Given the description of an element on the screen output the (x, y) to click on. 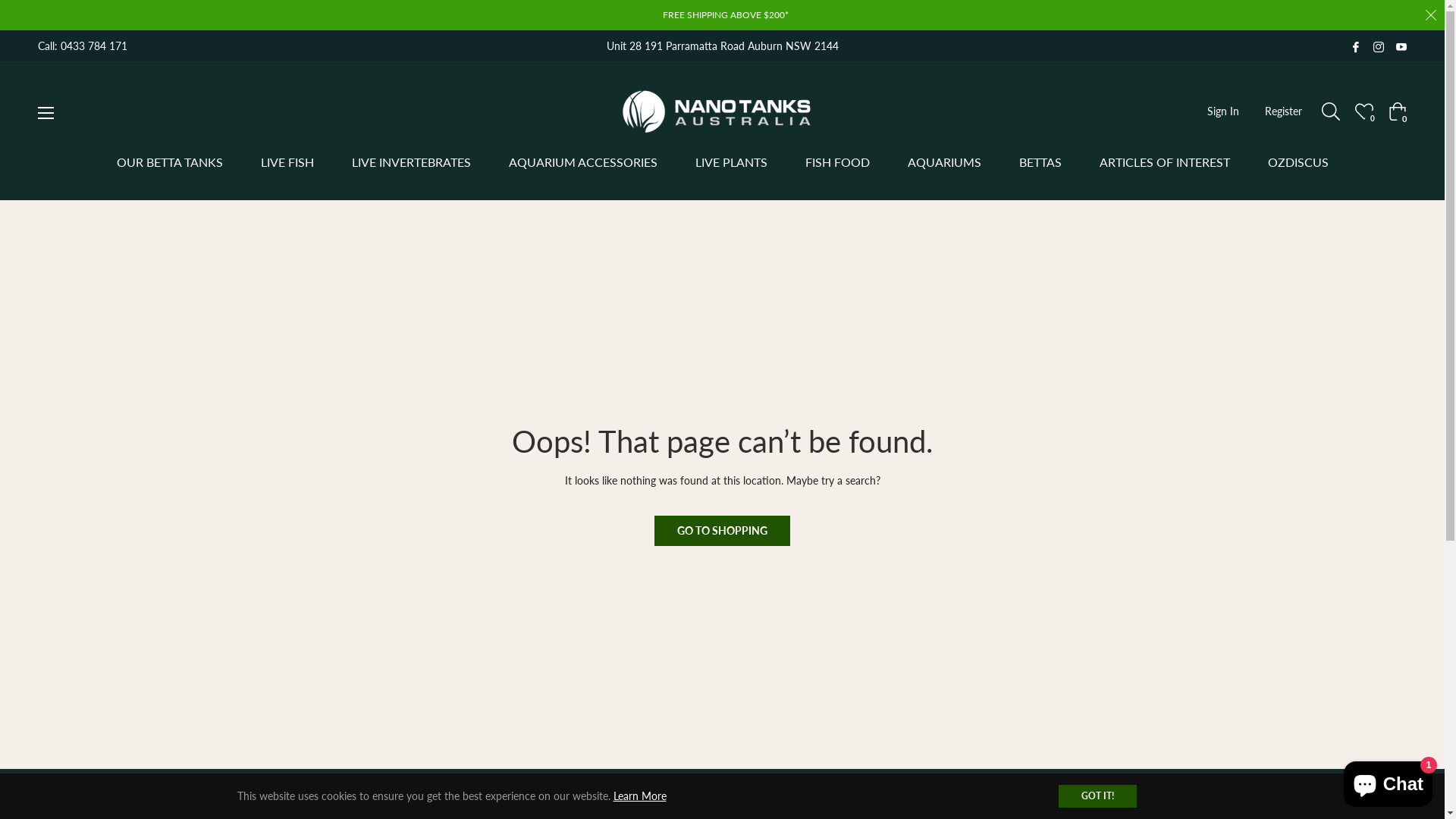
Nano Tanks Australia Aquarium Shop on Facebook Element type: hover (1355, 45)
Shopify online store chat Element type: hover (1388, 780)
ARTICLES OF INTEREST Element type: text (1163, 162)
LIVE FISH Element type: text (286, 162)
Nano Tanks Australia Aquarium Shop on YouTube Element type: hover (1401, 45)
LIVE PLANTS Element type: text (731, 162)
Register Element type: text (1283, 111)
GO TO SHOPPING Element type: text (722, 530)
OZDISCUS Element type: text (1297, 162)
AQUARIUMS Element type: text (944, 162)
0 Element type: text (1363, 111)
Learn More Element type: text (638, 795)
AQUARIUM ACCESSORIES Element type: text (582, 162)
OUR BETTA TANKS Element type: text (169, 162)
GOT IT! Element type: text (1097, 795)
0433 784 171 Element type: text (93, 45)
BETTAS Element type: text (1039, 162)
FISH FOOD Element type: text (836, 162)
Nano Tanks Australia Aquarium Shop on Instagram Element type: hover (1378, 45)
Sign In Element type: text (1222, 111)
LIVE INVERTEBRATES Element type: text (410, 162)
